Given the description of an element on the screen output the (x, y) to click on. 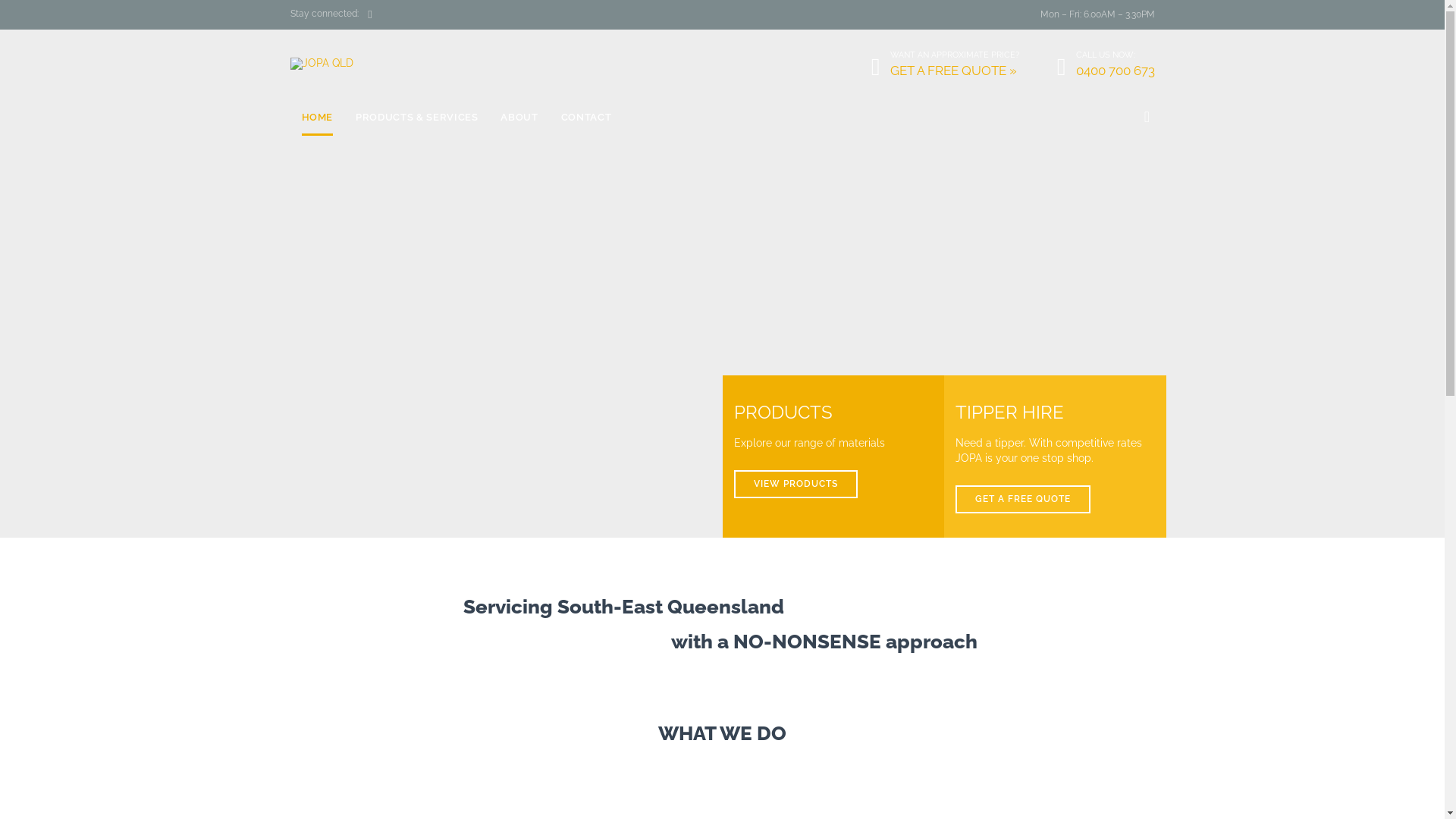
0400 700 673 Element type: text (1114, 71)
ABOUT Element type: text (518, 118)
VIEW PRODUCTS Element type: text (795, 484)
JOPA QLD Element type: hover (346, 63)
CONTACT Element type: text (586, 118)
GET A FREE QUOTE Element type: text (1022, 499)
HOME Element type: text (317, 118)
PRODUCTS & SERVICES Element type: text (416, 118)
Skip to content Element type: text (709, 98)
